Given the description of an element on the screen output the (x, y) to click on. 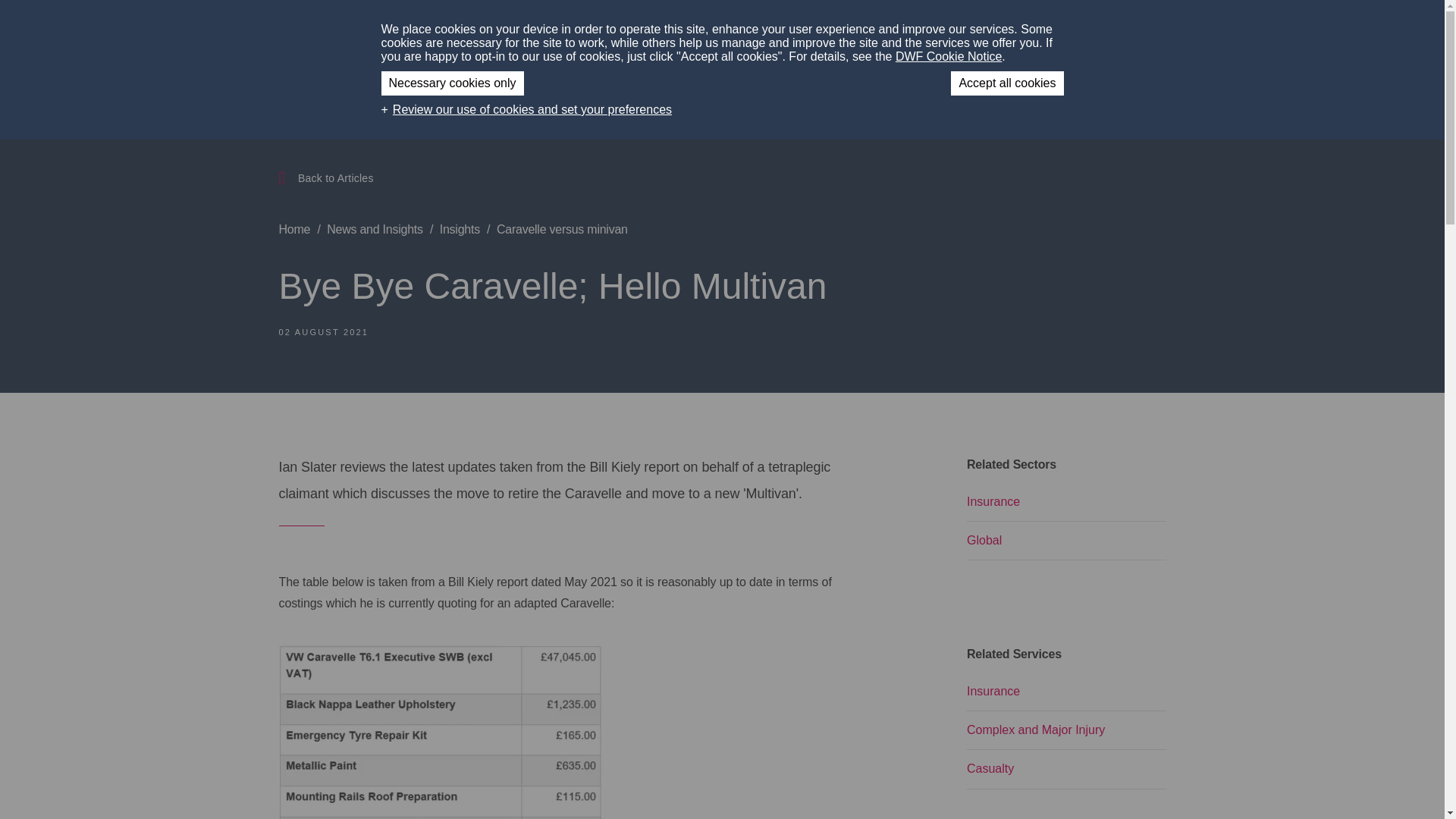
SUSTAINABILITY (813, 30)
CAREERS (977, 30)
ABOUT (728, 30)
LOCATIONS (898, 30)
CLIENT LOGIN (1063, 30)
HOME (671, 30)
